Given the description of an element on the screen output the (x, y) to click on. 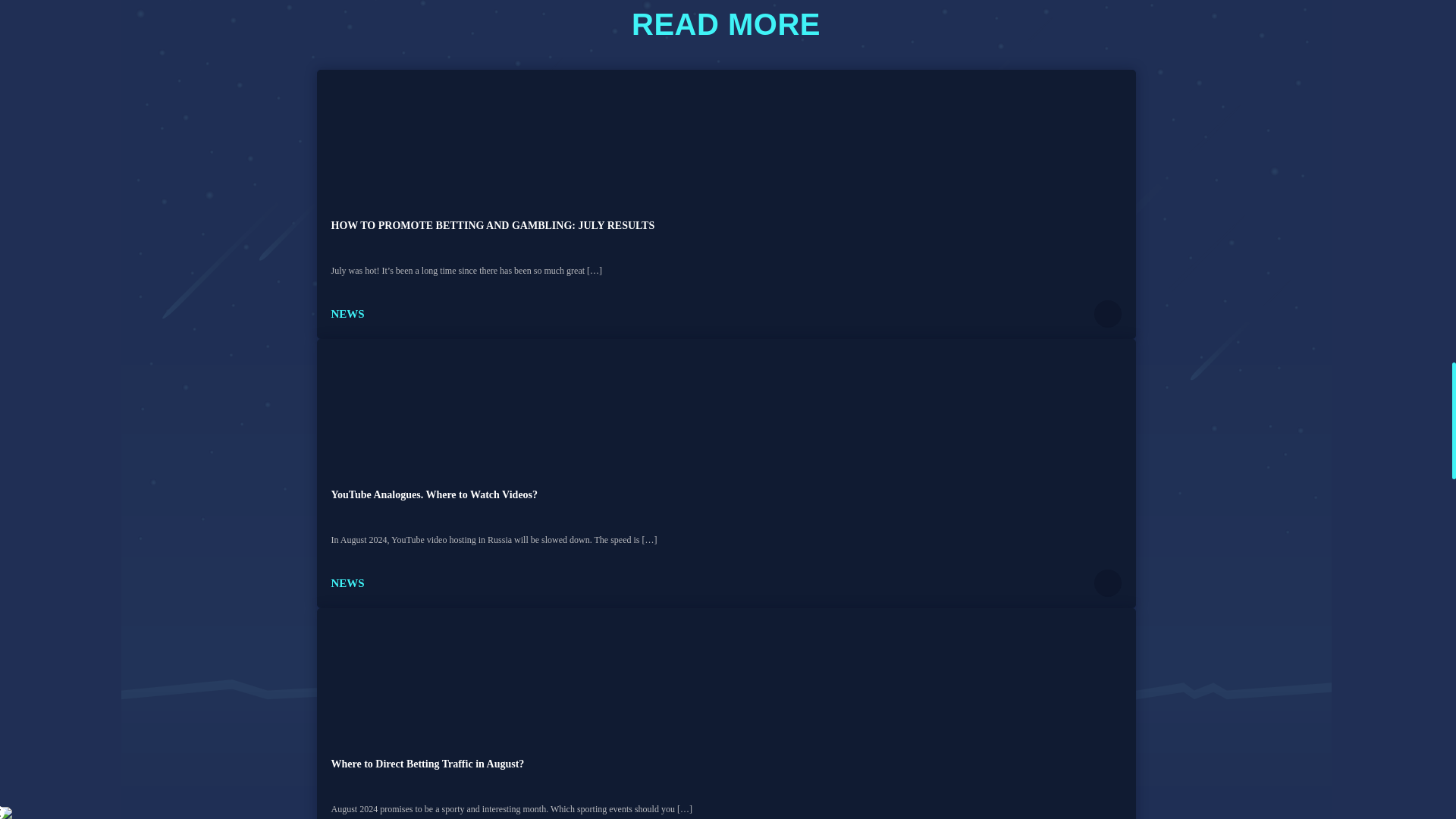
NEWS (347, 313)
NEWS (347, 582)
Where to Direct Betting Traffic in August? (427, 763)
HOW TO PROMOTE BETTING AND GAMBLING: JULY RESULTS (491, 225)
YouTube Analogues. Where to Watch Videos? (433, 494)
